Given the description of an element on the screen output the (x, y) to click on. 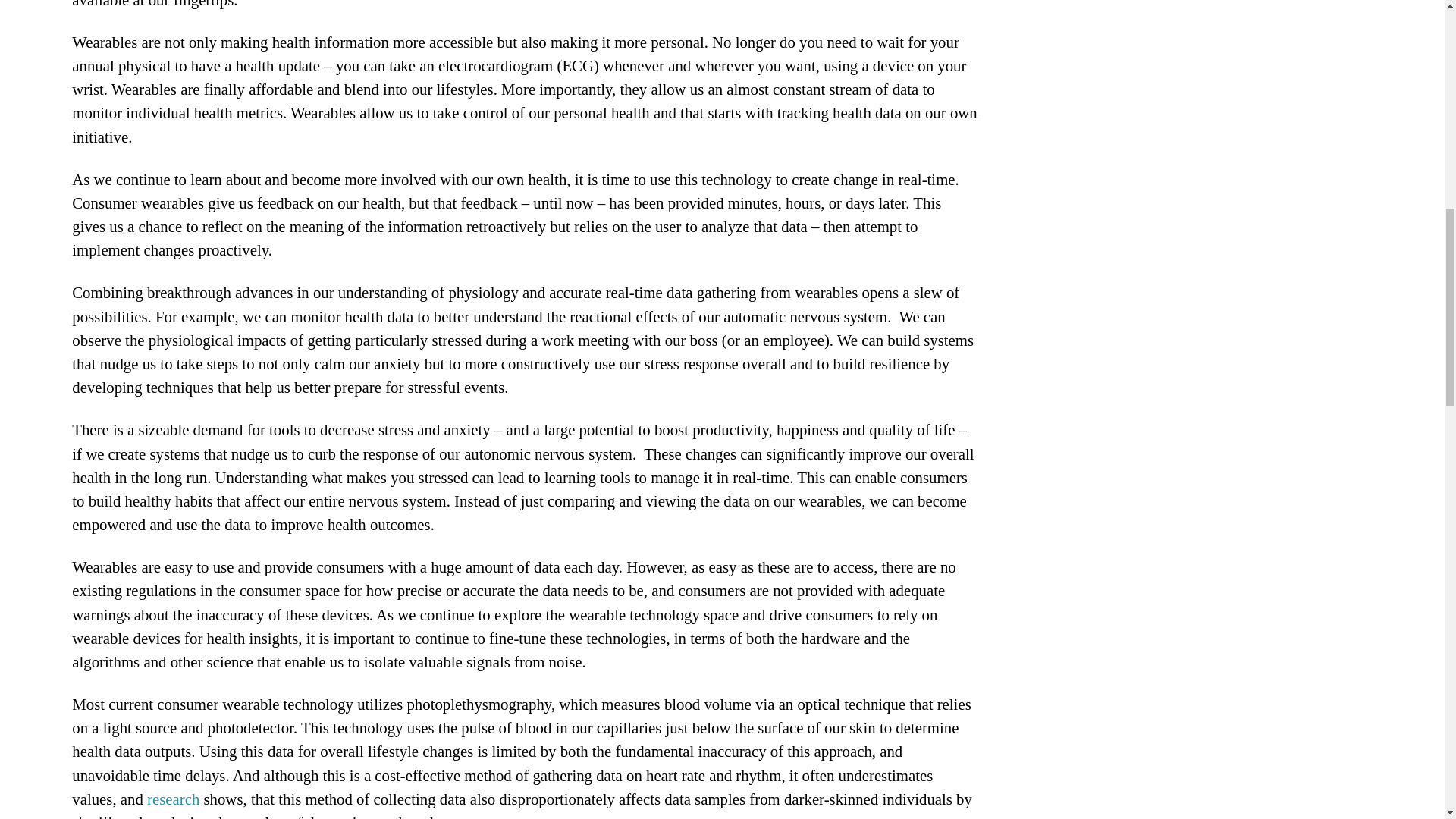
Advertisement (1119, 55)
research (173, 798)
